Given the description of an element on the screen output the (x, y) to click on. 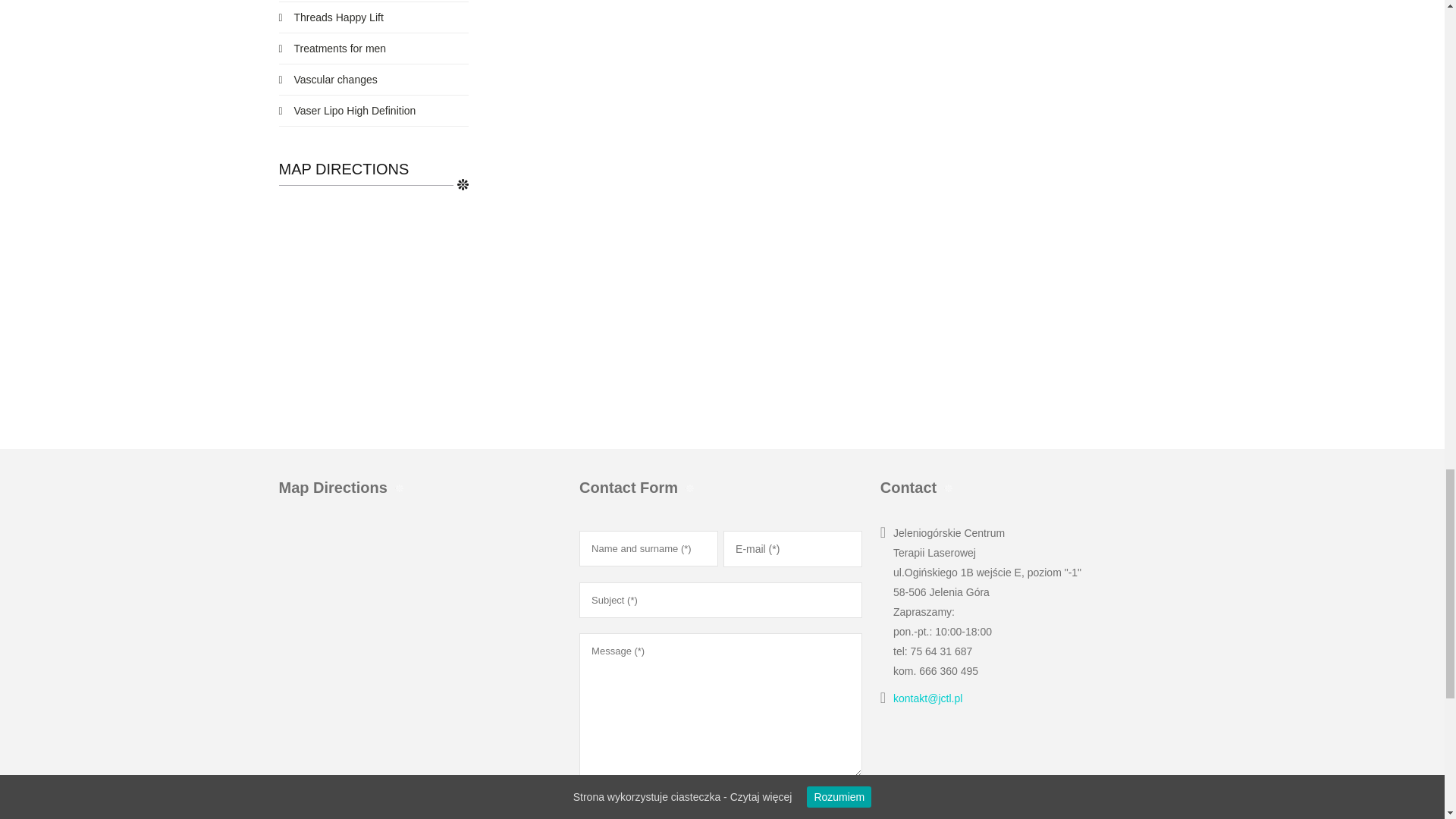
1 (584, 795)
